Given the description of an element on the screen output the (x, y) to click on. 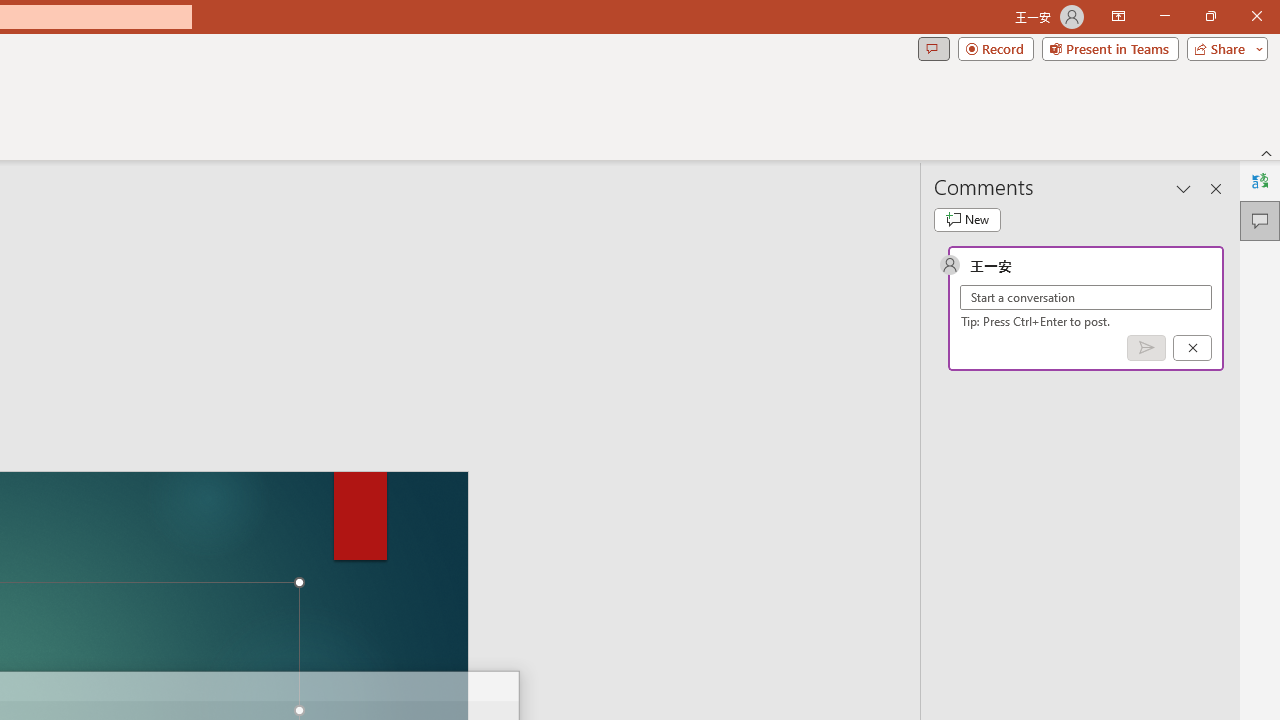
Start a conversation (1085, 297)
